Given the description of an element on the screen output the (x, y) to click on. 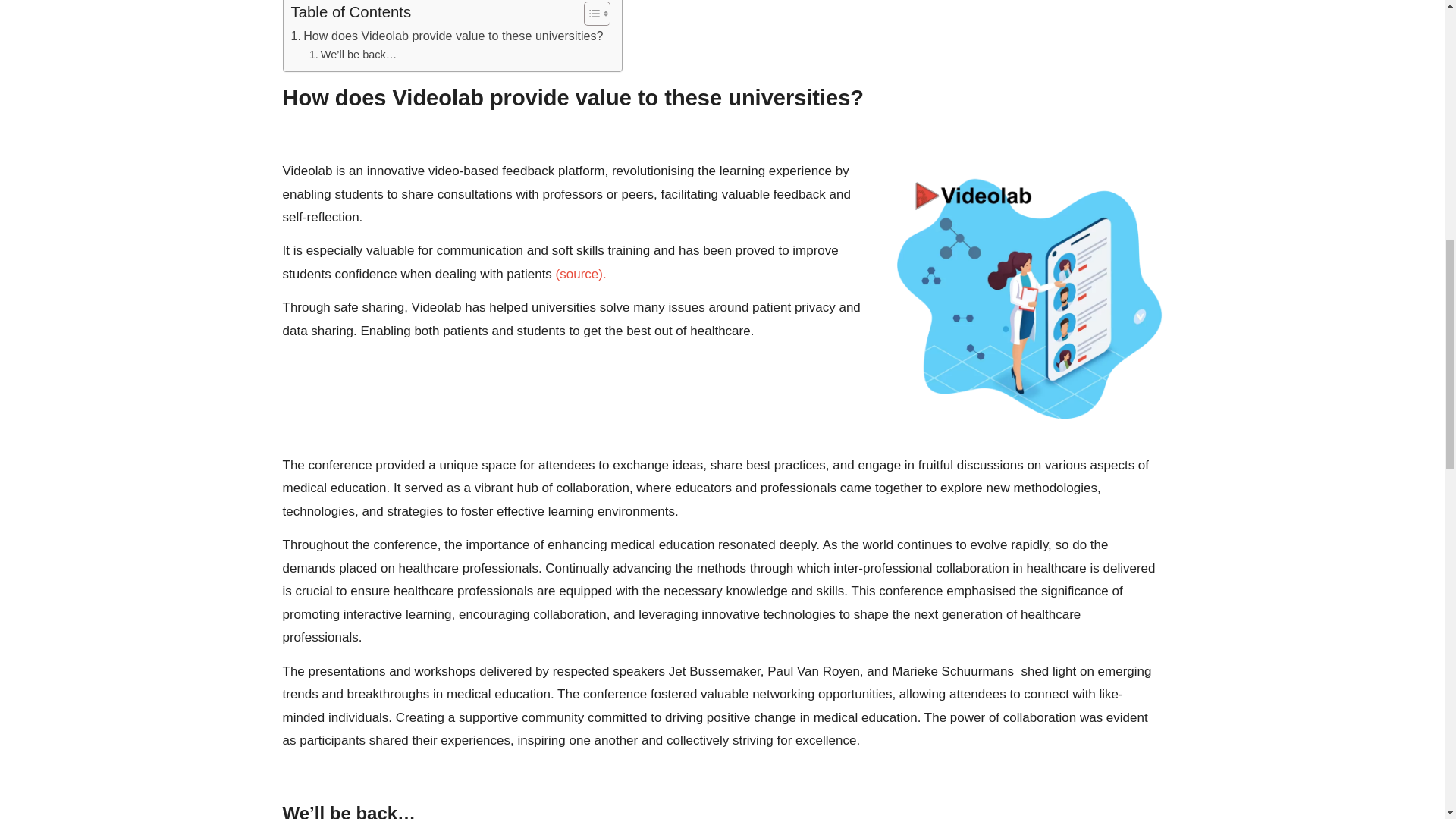
Scroll back to top (1406, 720)
